Given the description of an element on the screen output the (x, y) to click on. 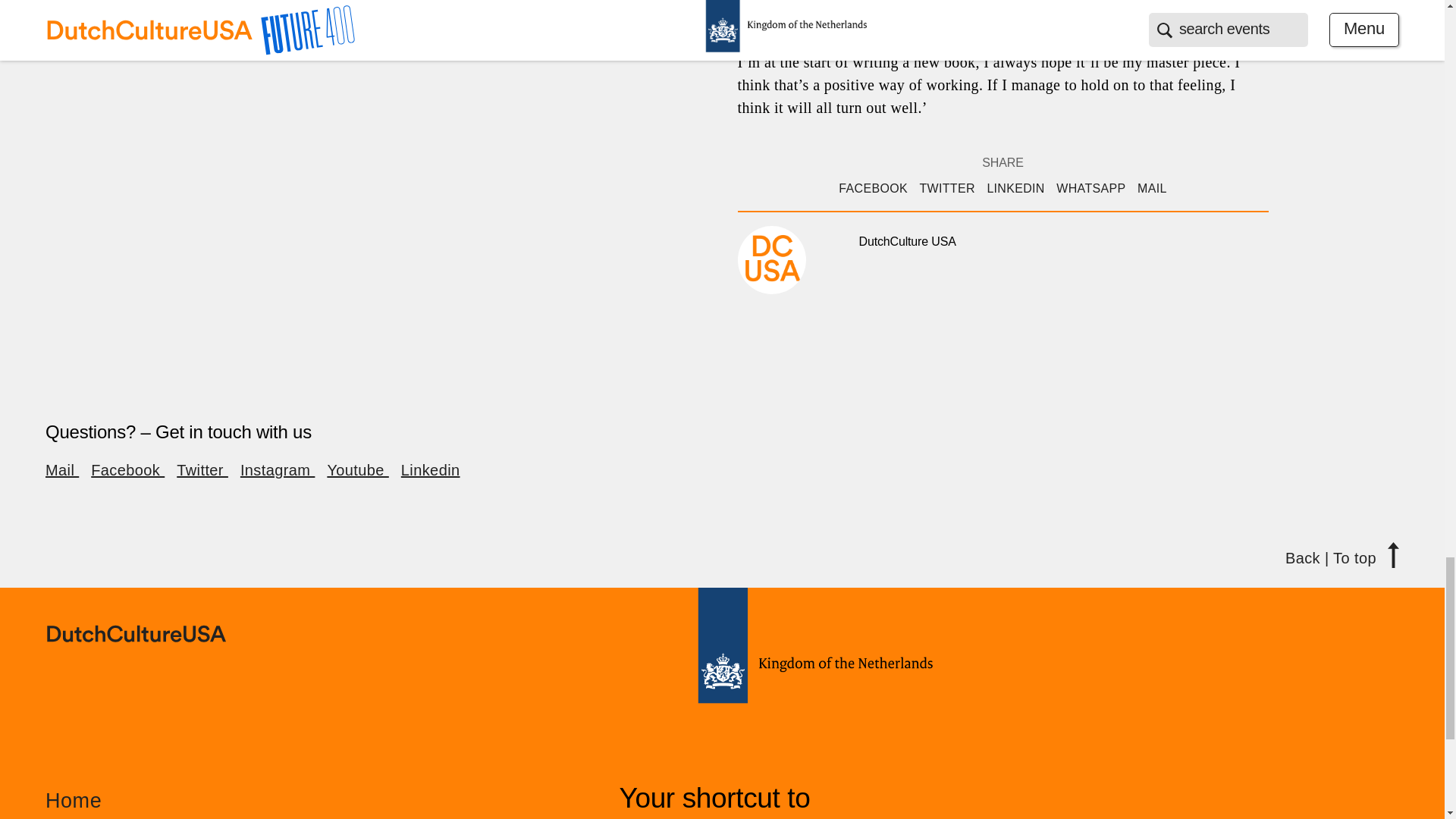
Facebook (127, 469)
TWITTER (946, 187)
LINKEDIN (1015, 187)
Instagram (277, 469)
Youtube (357, 469)
MAIL (1152, 187)
Mail (61, 469)
WHATSAPP (1091, 187)
FACEBOOK (872, 187)
Twitter (202, 469)
